Given the description of an element on the screen output the (x, y) to click on. 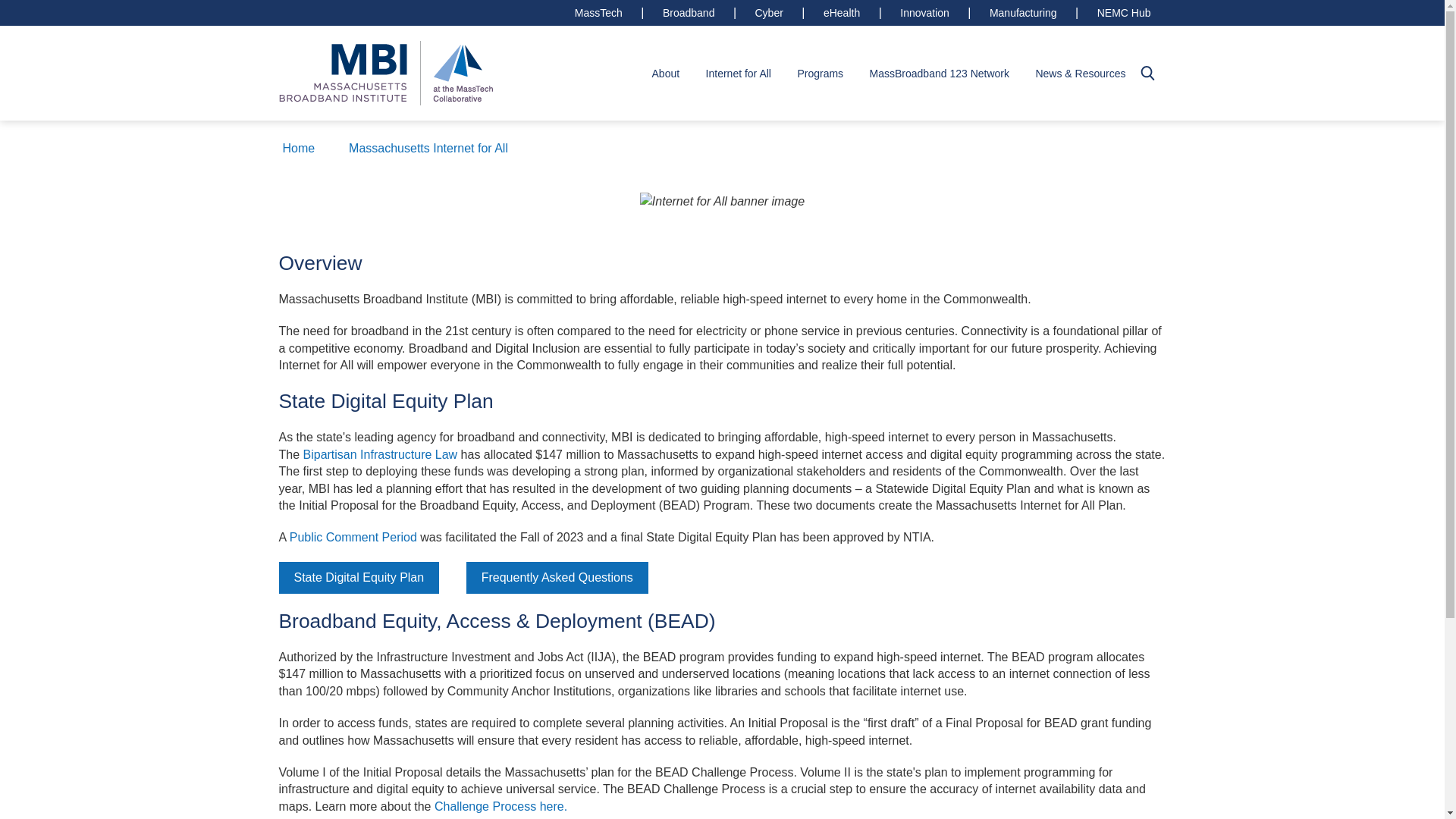
Cyber (768, 12)
About (665, 73)
Manufacturing (1022, 12)
eHealth (841, 12)
Innovation (924, 12)
MassBroadband 123 Network (939, 73)
MassTech (598, 12)
Home (386, 72)
Internet for All (738, 73)
Massachusetts Internet for All Plan (352, 536)
Programs (820, 73)
Broadband (688, 12)
NEMC Hub (1123, 12)
